Given the description of an element on the screen output the (x, y) to click on. 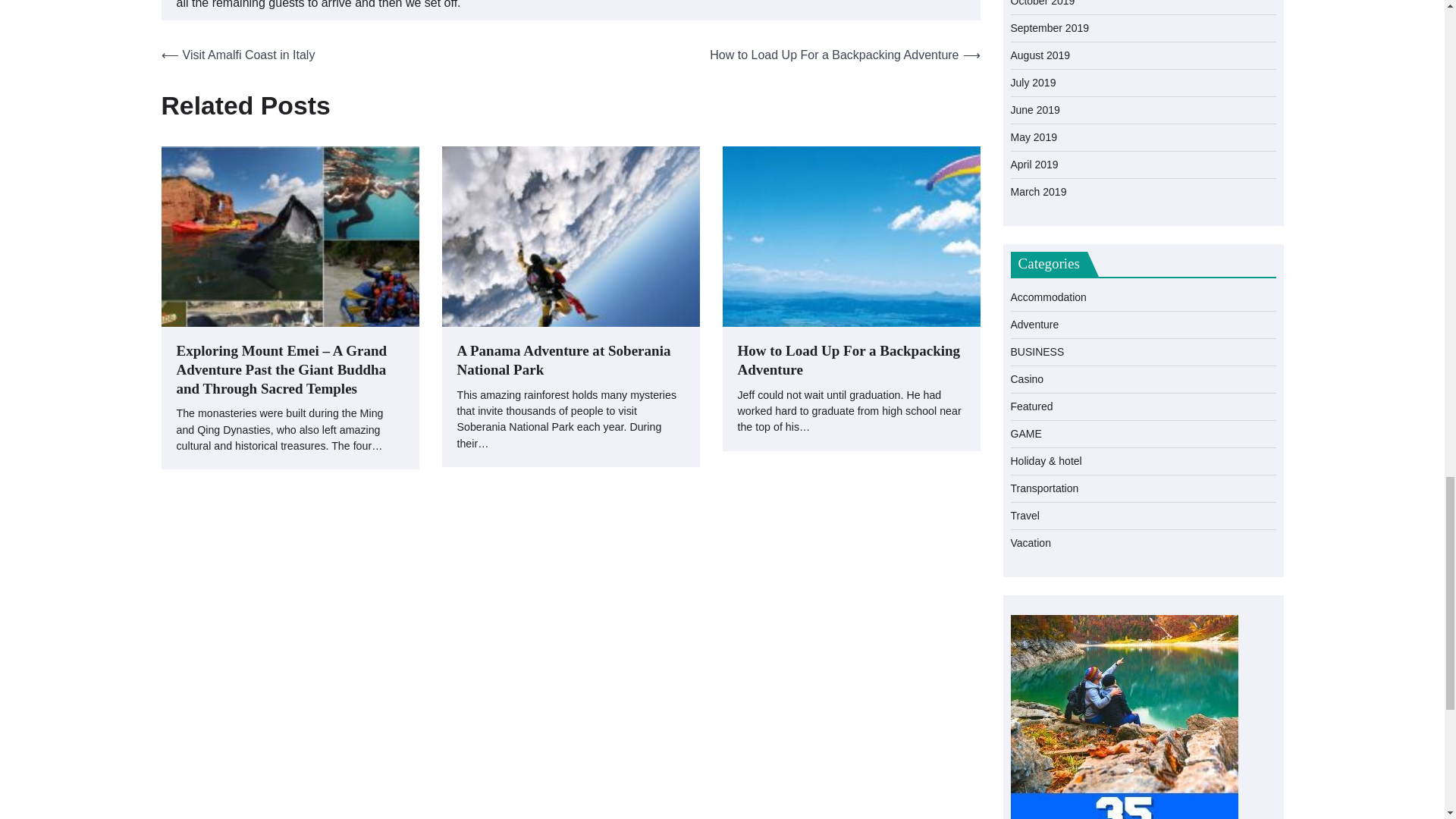
A Panama Adventure at Soberania National Park (570, 361)
How to Load Up For a Backpacking Adventure (849, 361)
